Given the description of an element on the screen output the (x, y) to click on. 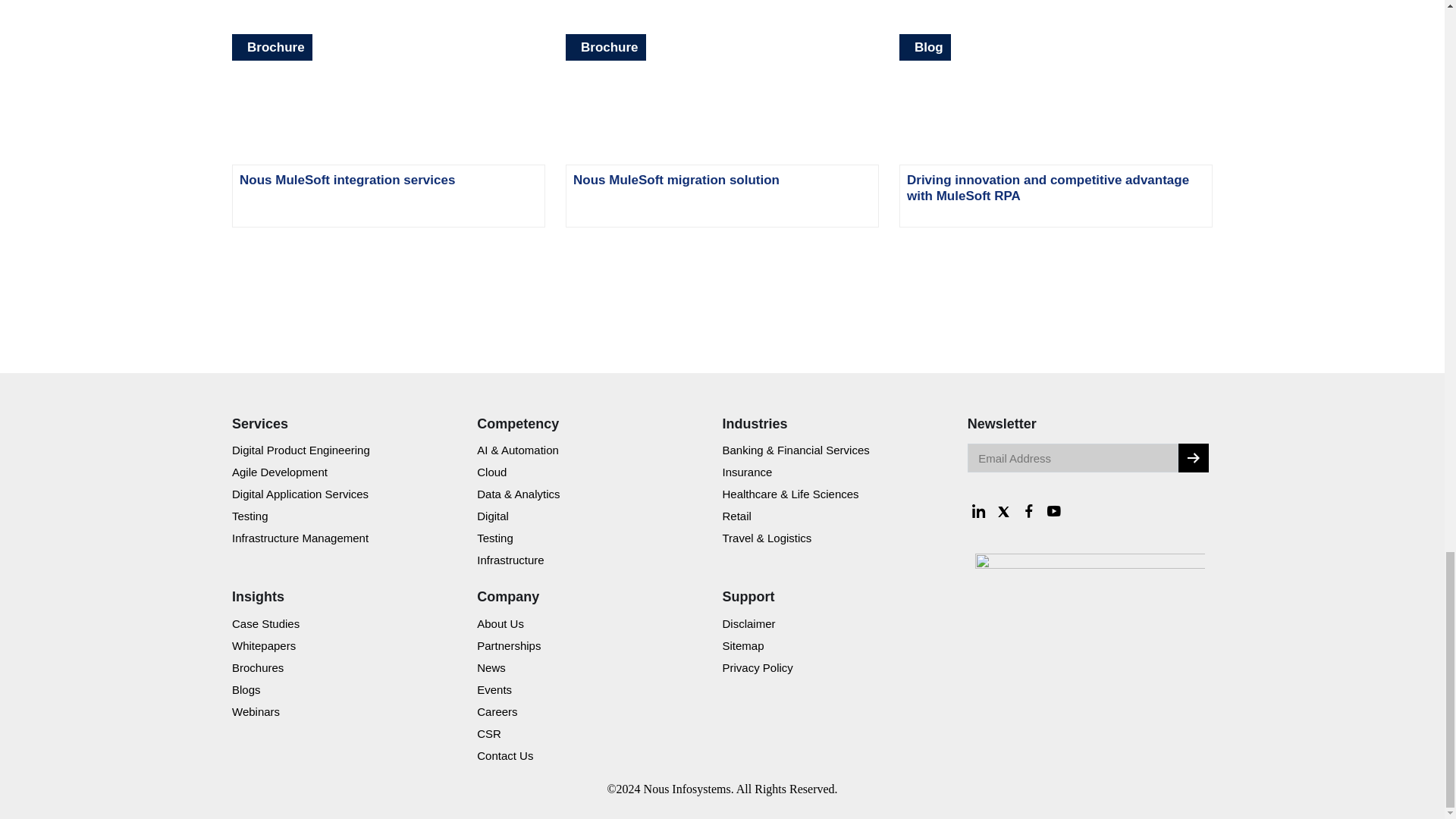
. (1192, 458)
